Given the description of an element on the screen output the (x, y) to click on. 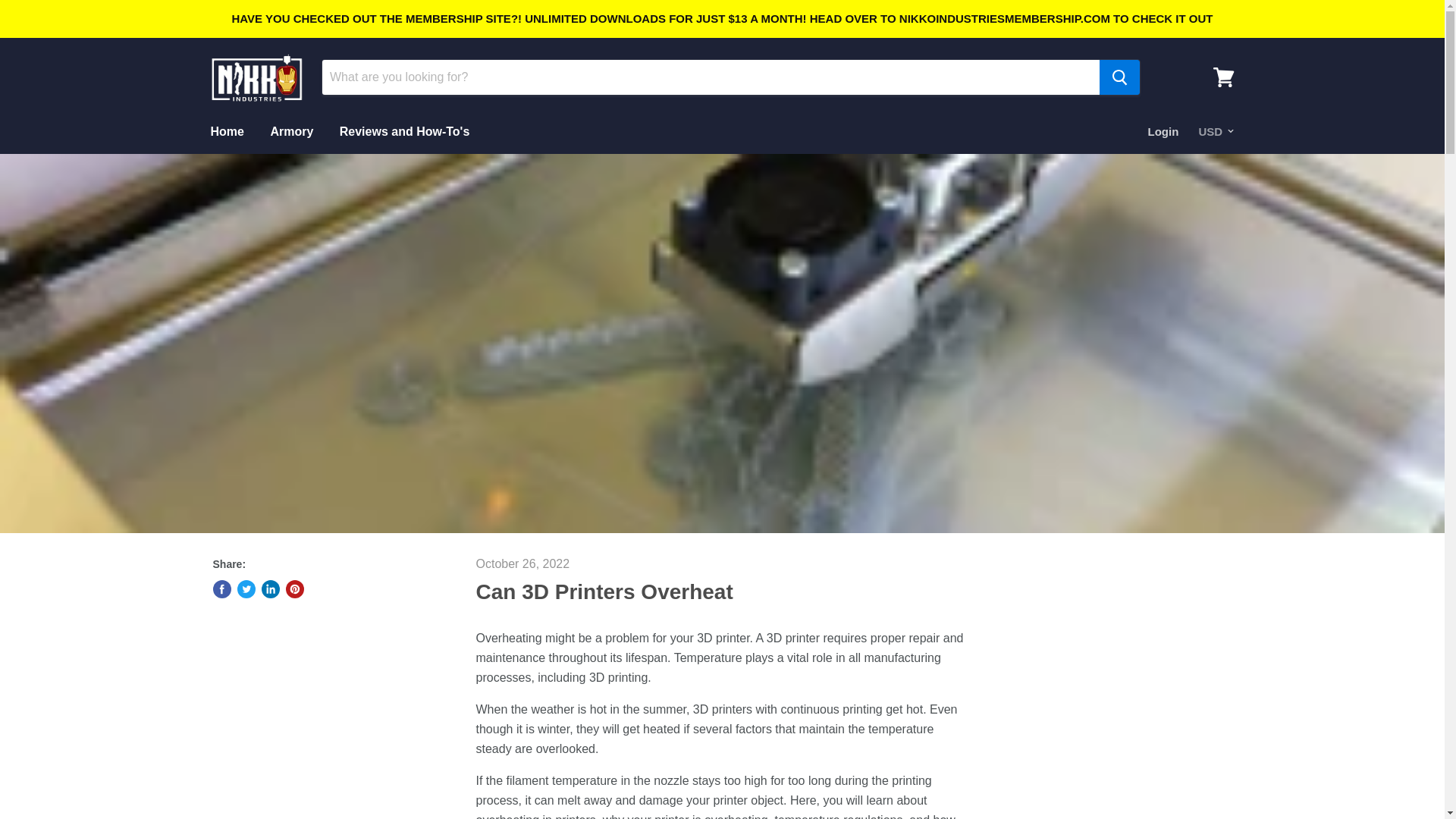
Home (226, 132)
Pin on Pinterest (293, 588)
View cart (1223, 77)
Reviews and How-To's (405, 132)
Share on Facebook (221, 588)
Login (1163, 132)
Share on LinkedIn (269, 588)
Tweet on Twitter (244, 588)
Armory (291, 132)
